Given the description of an element on the screen output the (x, y) to click on. 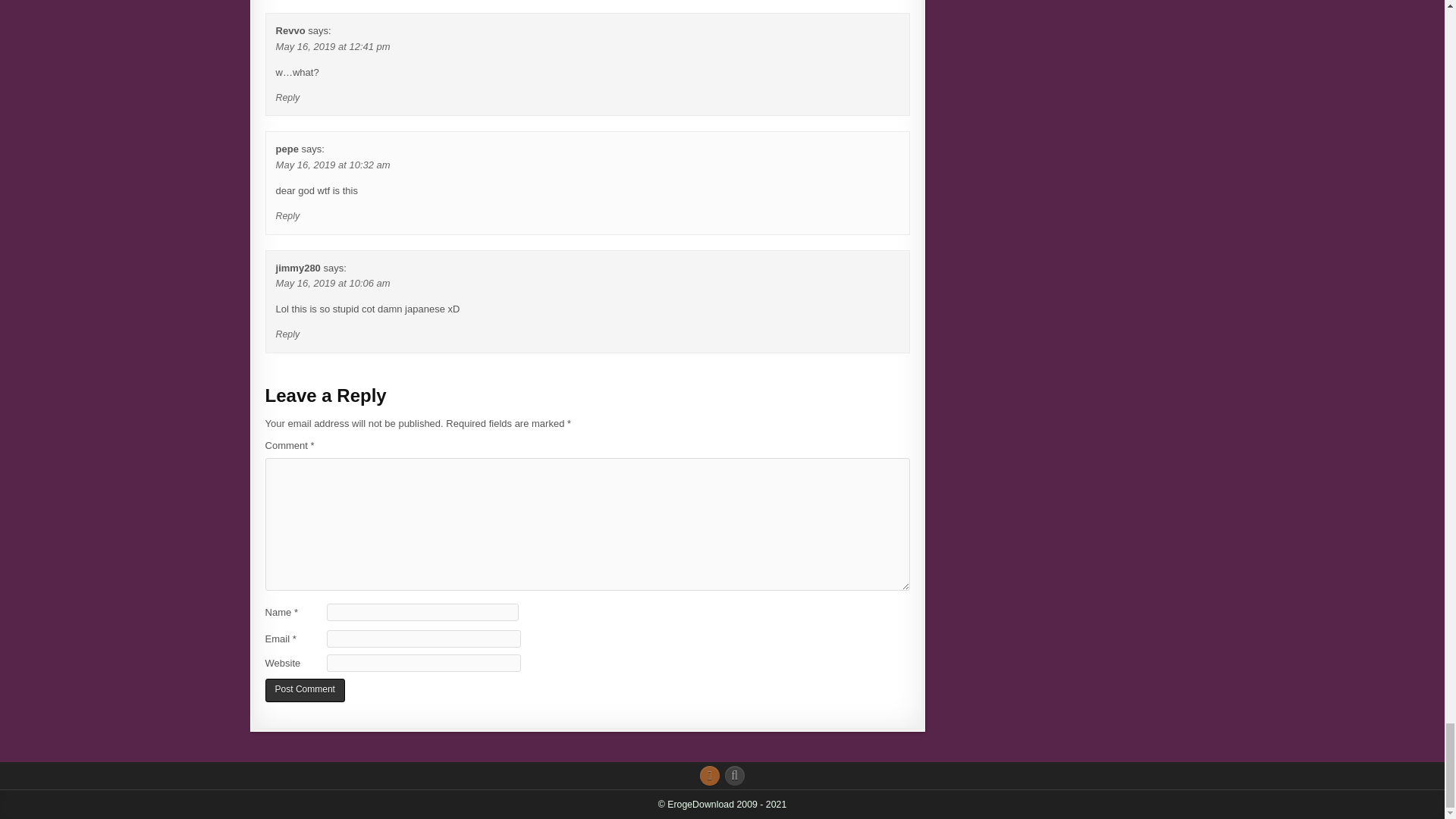
Post Comment (304, 689)
